Given the description of an element on the screen output the (x, y) to click on. 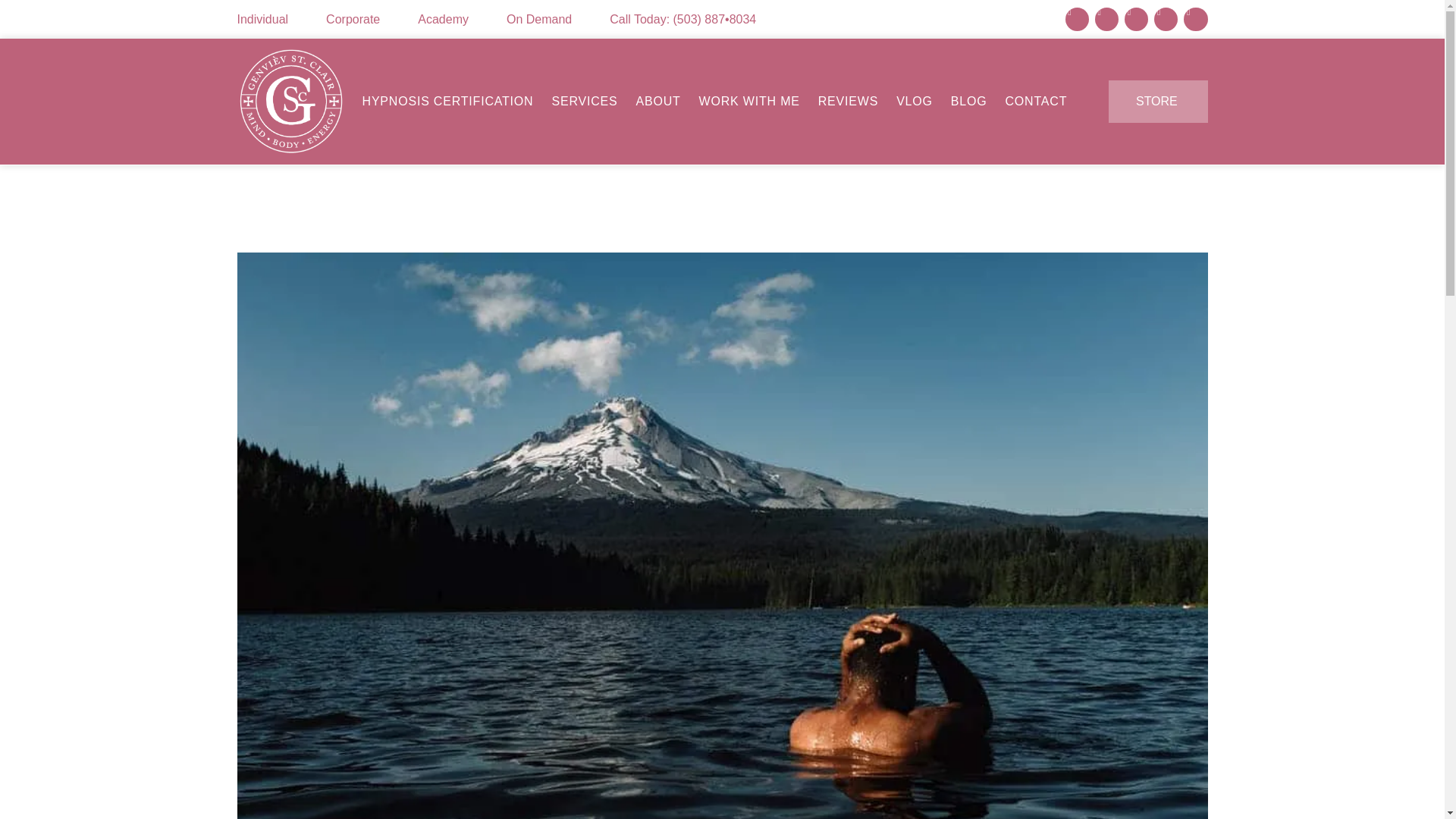
On Demand (539, 19)
STORE (1157, 101)
VLOG (914, 101)
CONTACT (1035, 101)
Corporate (353, 19)
SERVICES (584, 101)
WORK WITH ME (749, 101)
Individual (261, 19)
Academy (442, 19)
REVIEWS (847, 101)
BLOG (969, 101)
ABOUT (657, 101)
HYPNOSIS CERTIFICATION (447, 101)
